Given the description of an element on the screen output the (x, y) to click on. 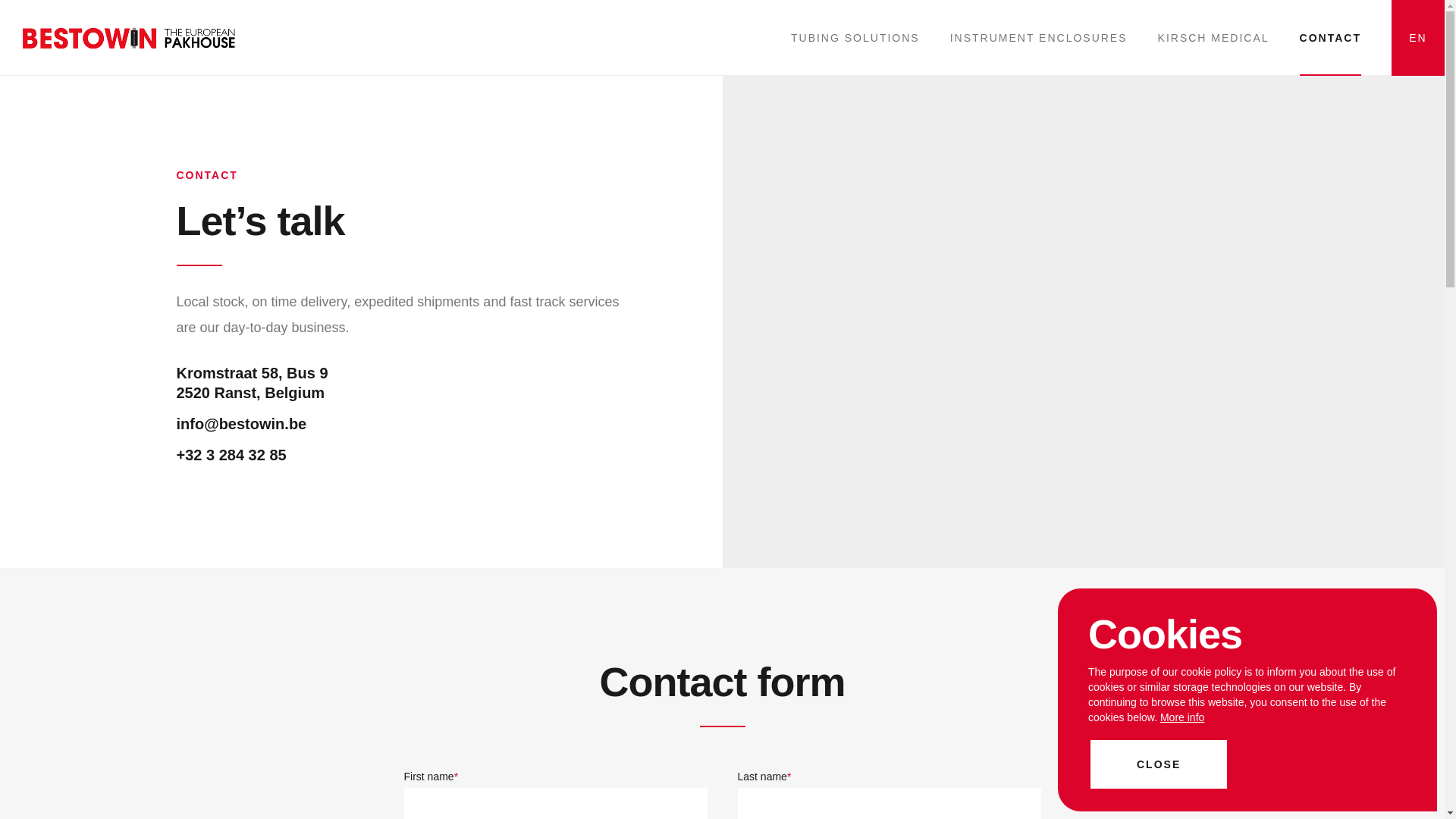
+32 3 284 32 85 Element type: text (230, 454)
INSTRUMENT ENCLOSURES Element type: text (1038, 37)
CONTACT Element type: text (1330, 37)
KIRSCH MEDICAL Element type: text (1213, 37)
info@bestowin.be Element type: text (240, 423)
TUBING SOLUTIONS Element type: text (854, 37)
More info Element type: text (1182, 717)
CLOSE Element type: text (1158, 764)
Kromstraat 58, Bus 9
2520 Ranst, Belgium Element type: text (251, 382)
